Given the description of an element on the screen output the (x, y) to click on. 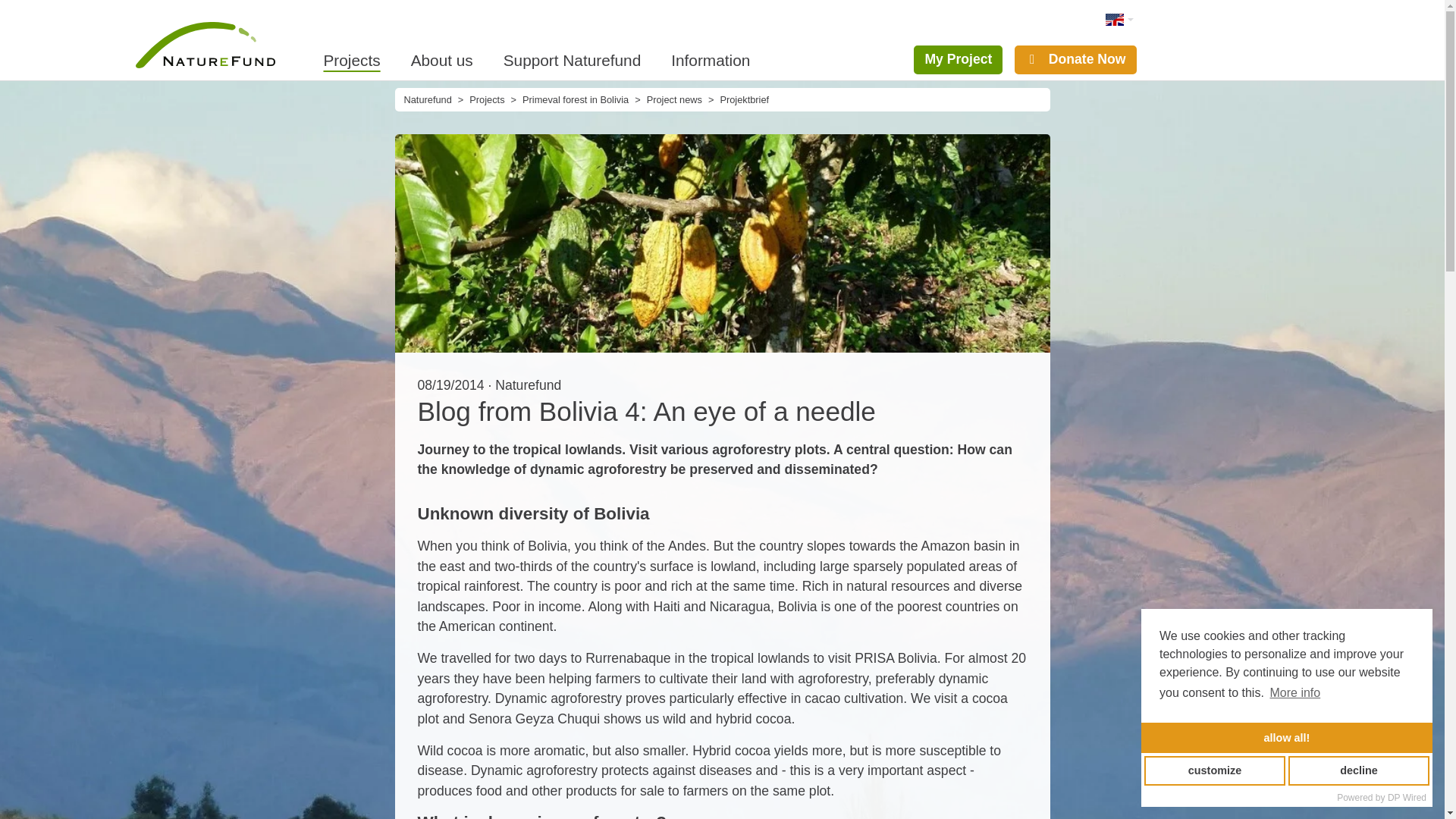
Support Naturefund (571, 60)
My Project (958, 59)
Primeval forest in Bolivia (575, 99)
Information (710, 60)
Information (710, 60)
About us (441, 60)
Donate Now (1074, 59)
Projects (358, 60)
About us (441, 60)
Support Naturefund (571, 60)
Naturefund (427, 99)
Projects (485, 99)
Project news (673, 99)
Projects (358, 60)
